Given the description of an element on the screen output the (x, y) to click on. 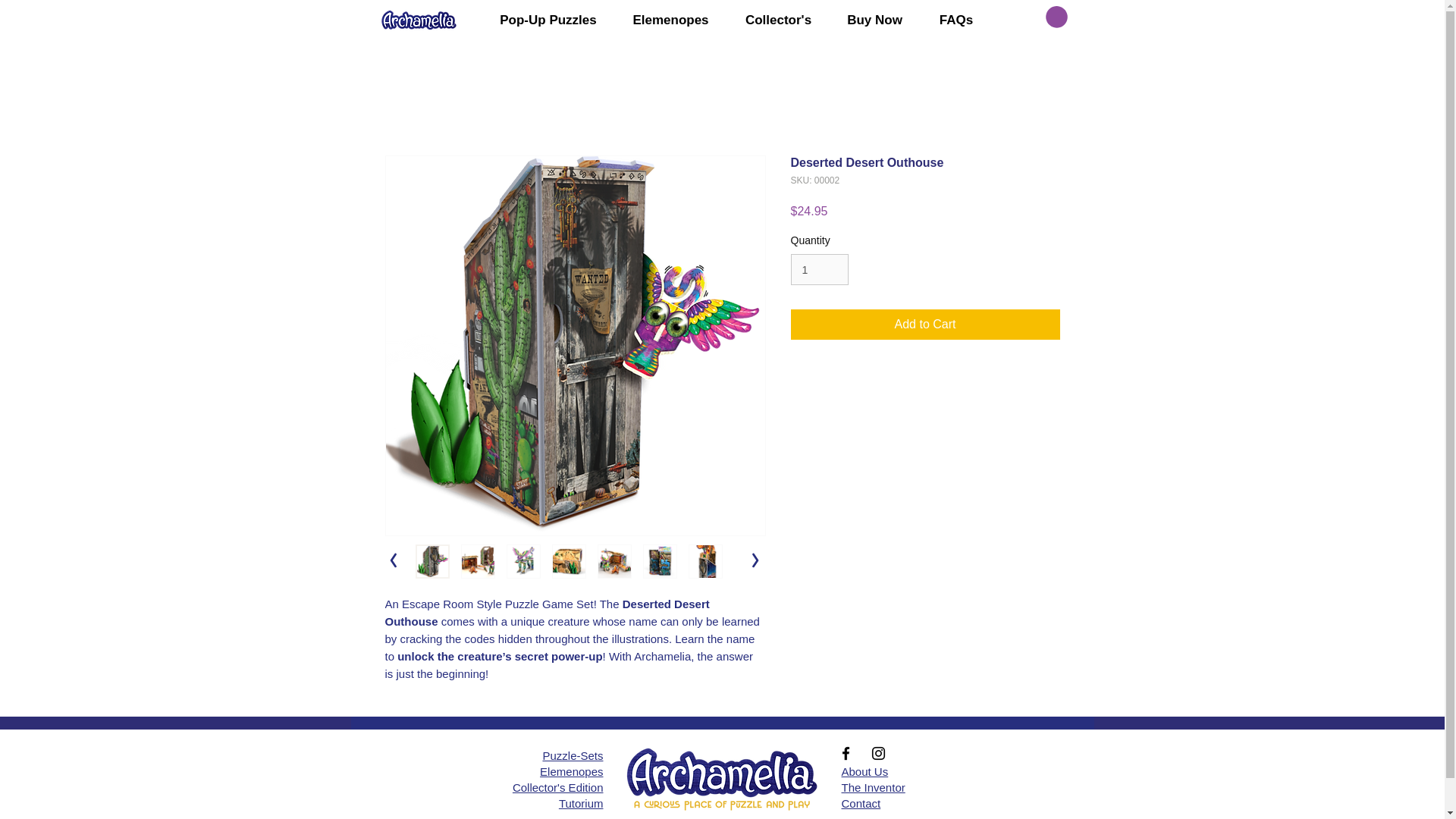
Collector's (778, 20)
1 (818, 269)
Contact (860, 802)
Elemenopes (571, 771)
Pop-Up Puzzles (546, 20)
Tutorium (581, 802)
Add to Cart (924, 324)
The Inventor (873, 787)
Elemenopes (671, 20)
Buy Now (874, 20)
Puzzle-Sets (571, 755)
About Us (864, 771)
FAQs (956, 20)
Collector's Edition (558, 787)
